Given the description of an element on the screen output the (x, y) to click on. 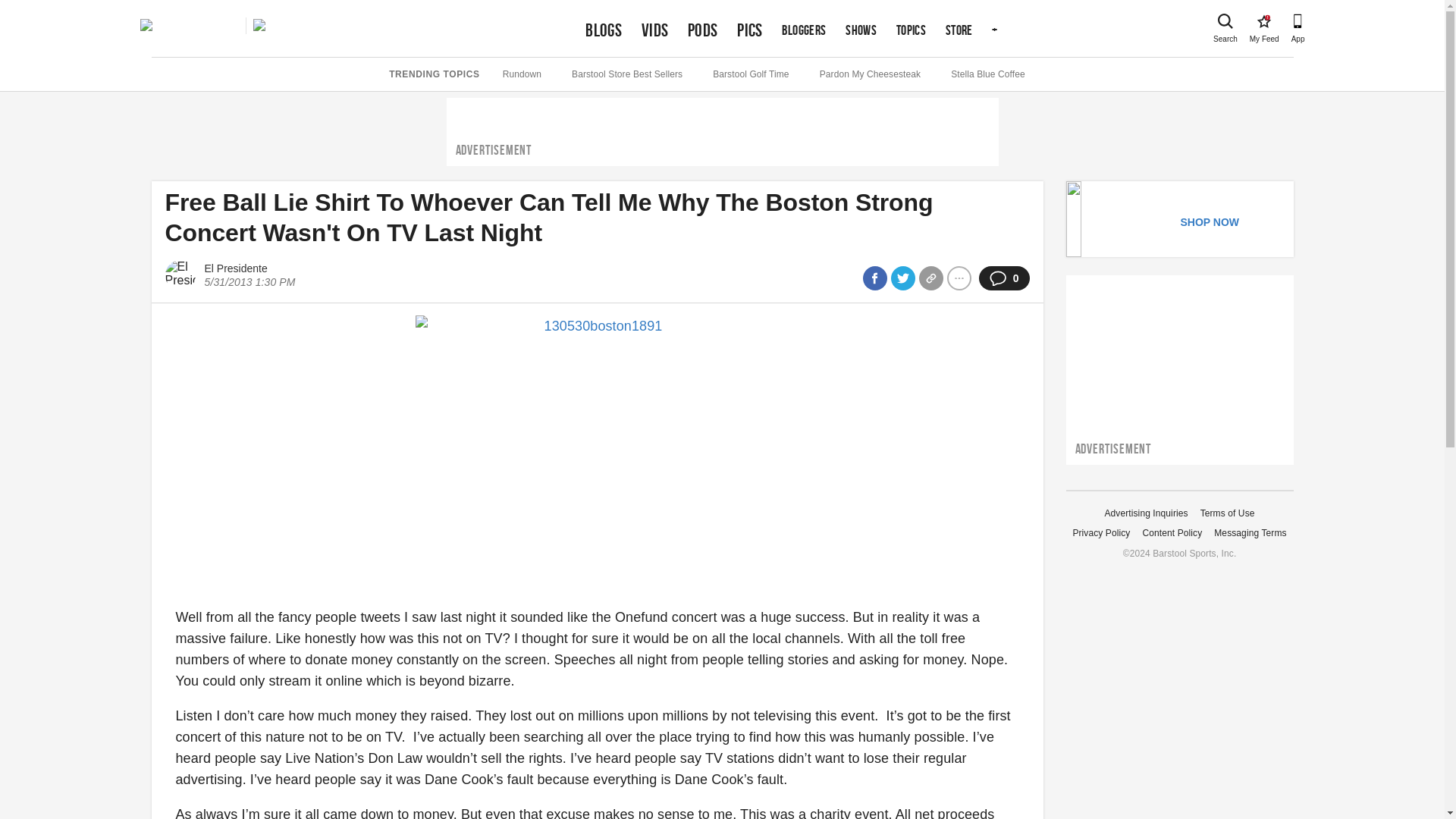
PODS (702, 30)
BLOGGERS (804, 30)
TOPICS (911, 30)
SHOWS (860, 30)
Search (1263, 20)
BLOGS (1225, 20)
